Given the description of an element on the screen output the (x, y) to click on. 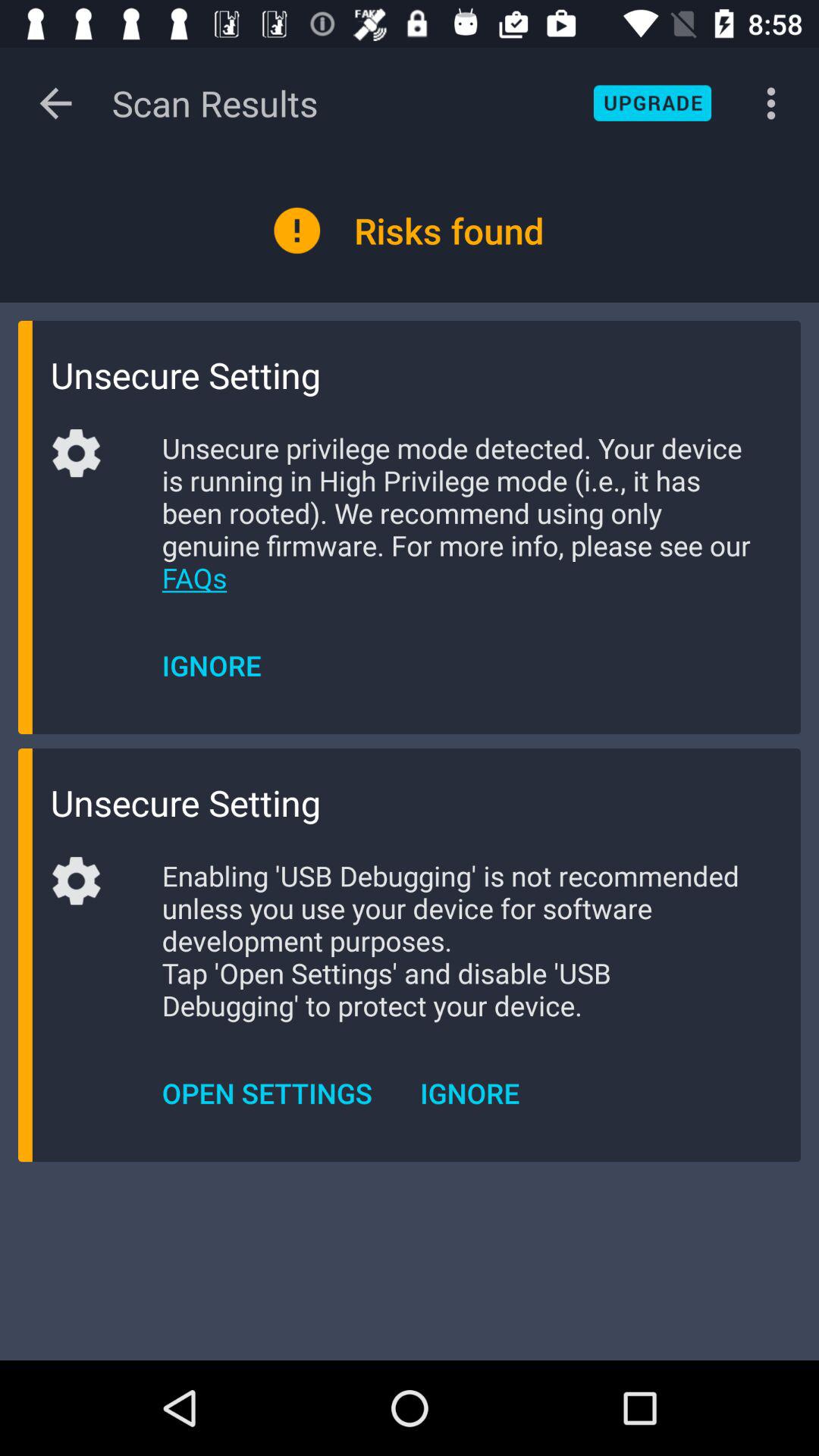
click icon below the unsecure setting icon (458, 512)
